Given the description of an element on the screen output the (x, y) to click on. 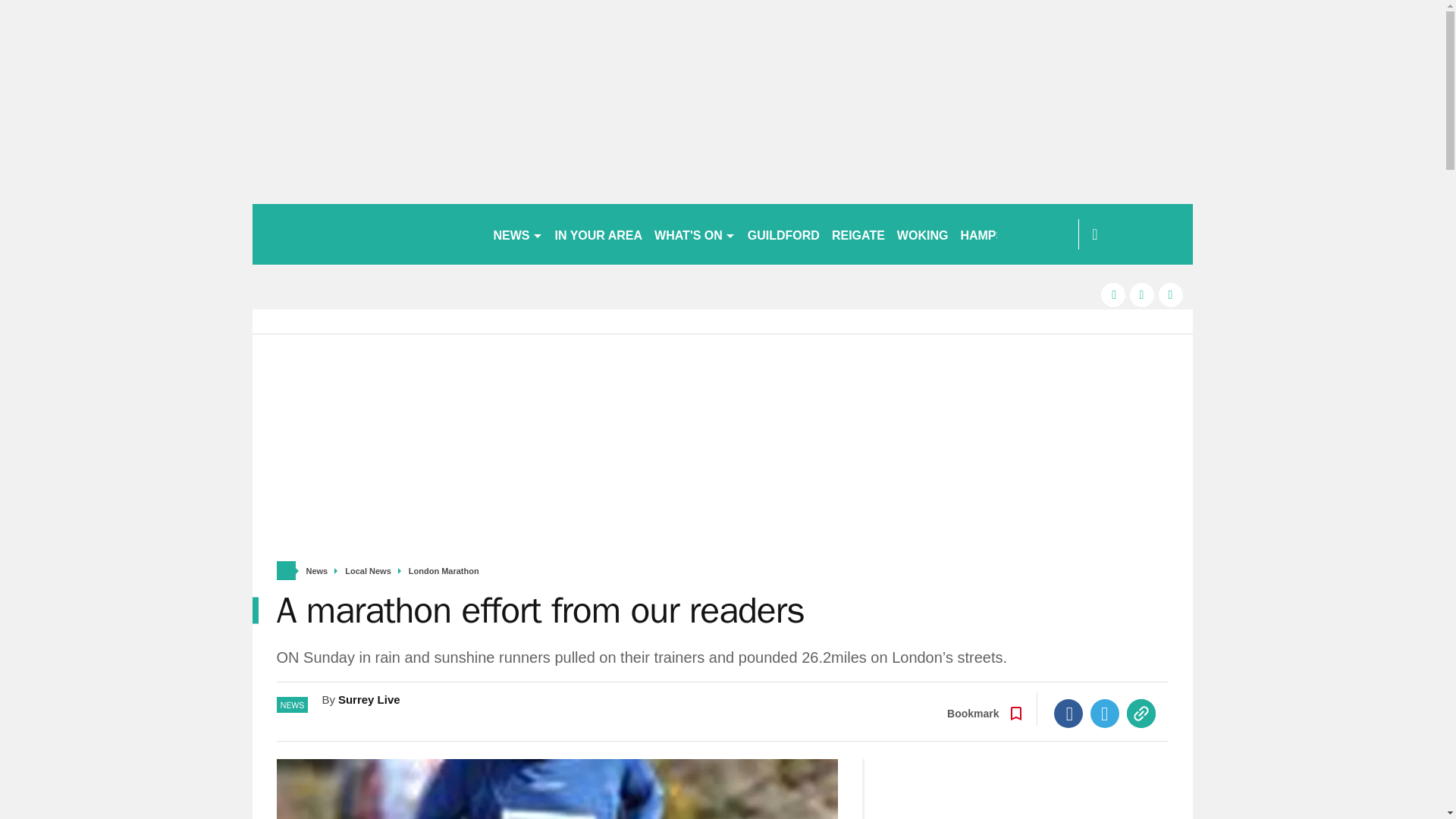
WHAT'S ON (694, 233)
HAMPSHIRE (996, 233)
twitter (1141, 294)
Twitter (1104, 713)
REIGATE (858, 233)
instagram (1170, 294)
facebook (1112, 294)
IN YOUR AREA (598, 233)
getsurrey (365, 233)
GUILDFORD (783, 233)
WOKING (923, 233)
NEWS (517, 233)
Facebook (1068, 713)
